Given the description of an element on the screen output the (x, y) to click on. 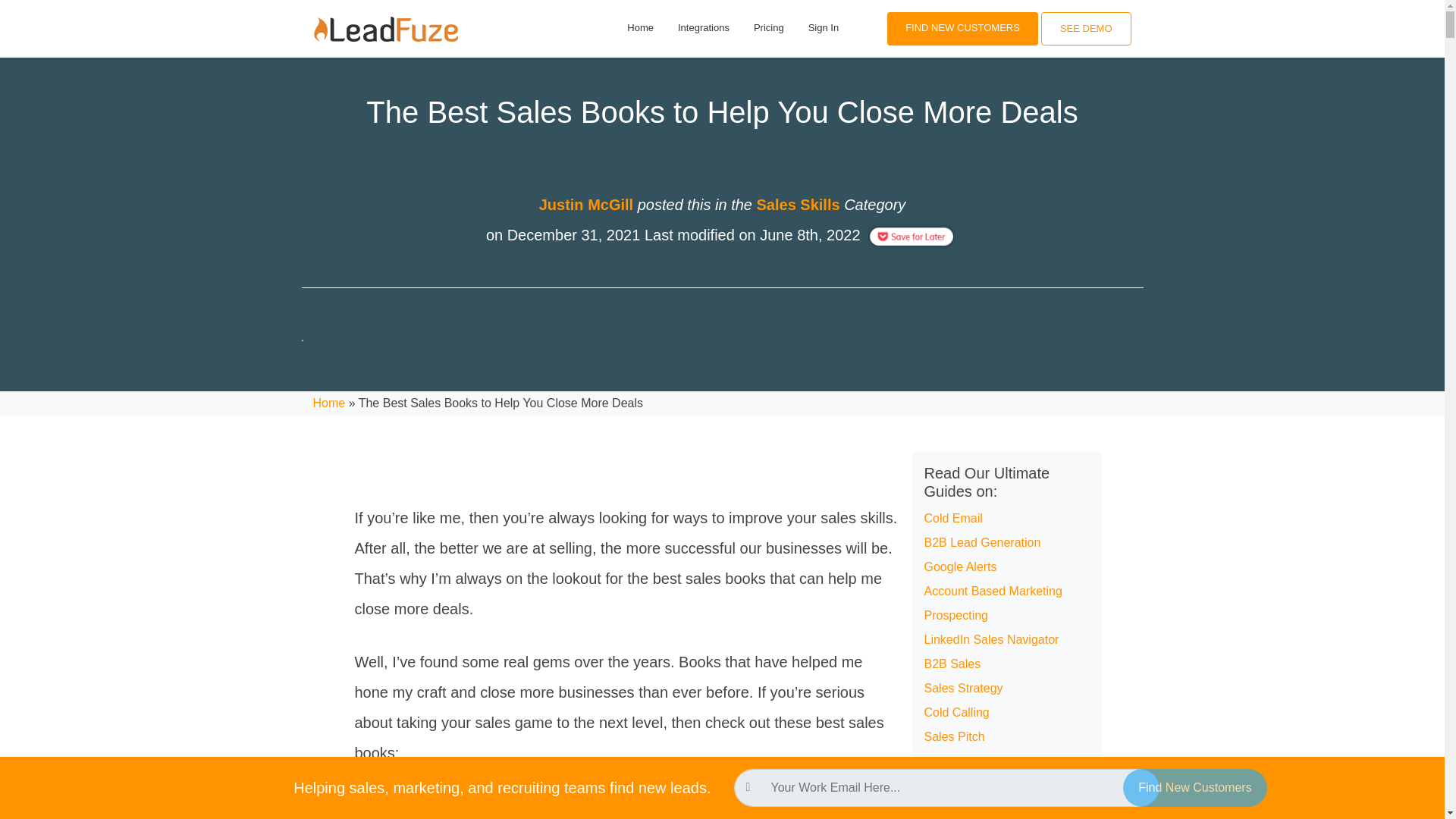
Justin McGill (585, 204)
Home (329, 402)
FIND NEW CUSTOMERS (962, 28)
SEE DEMO (1086, 29)
Home (640, 27)
Pricing (769, 27)
Sales Skills (798, 204)
Sign In (823, 27)
Save for Later (911, 234)
Find New Customers (1194, 787)
Integrations (703, 27)
